Given the description of an element on the screen output the (x, y) to click on. 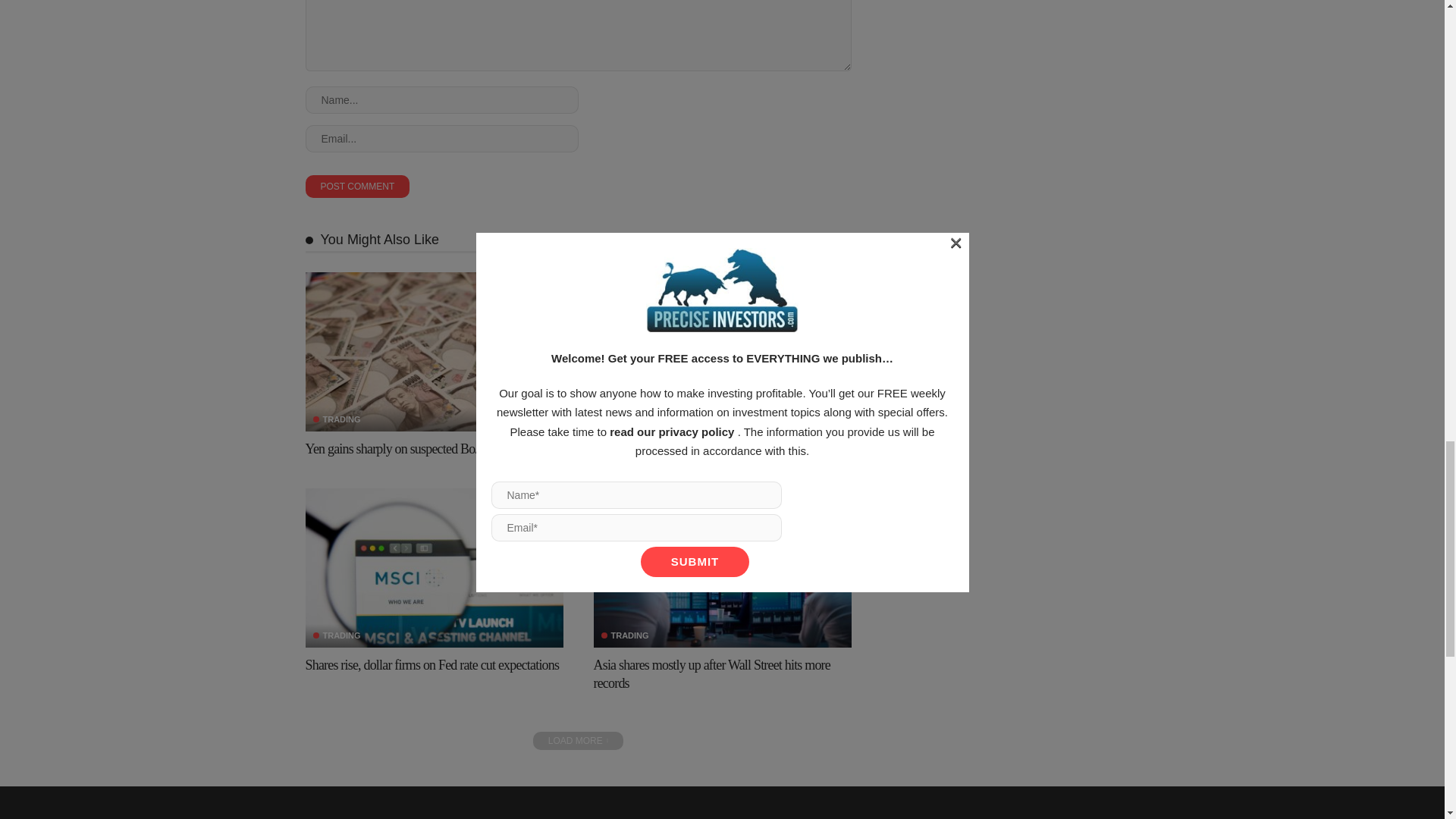
Post Comment (356, 186)
Post Comment (356, 186)
TRADING (336, 419)
